Given the description of an element on the screen output the (x, y) to click on. 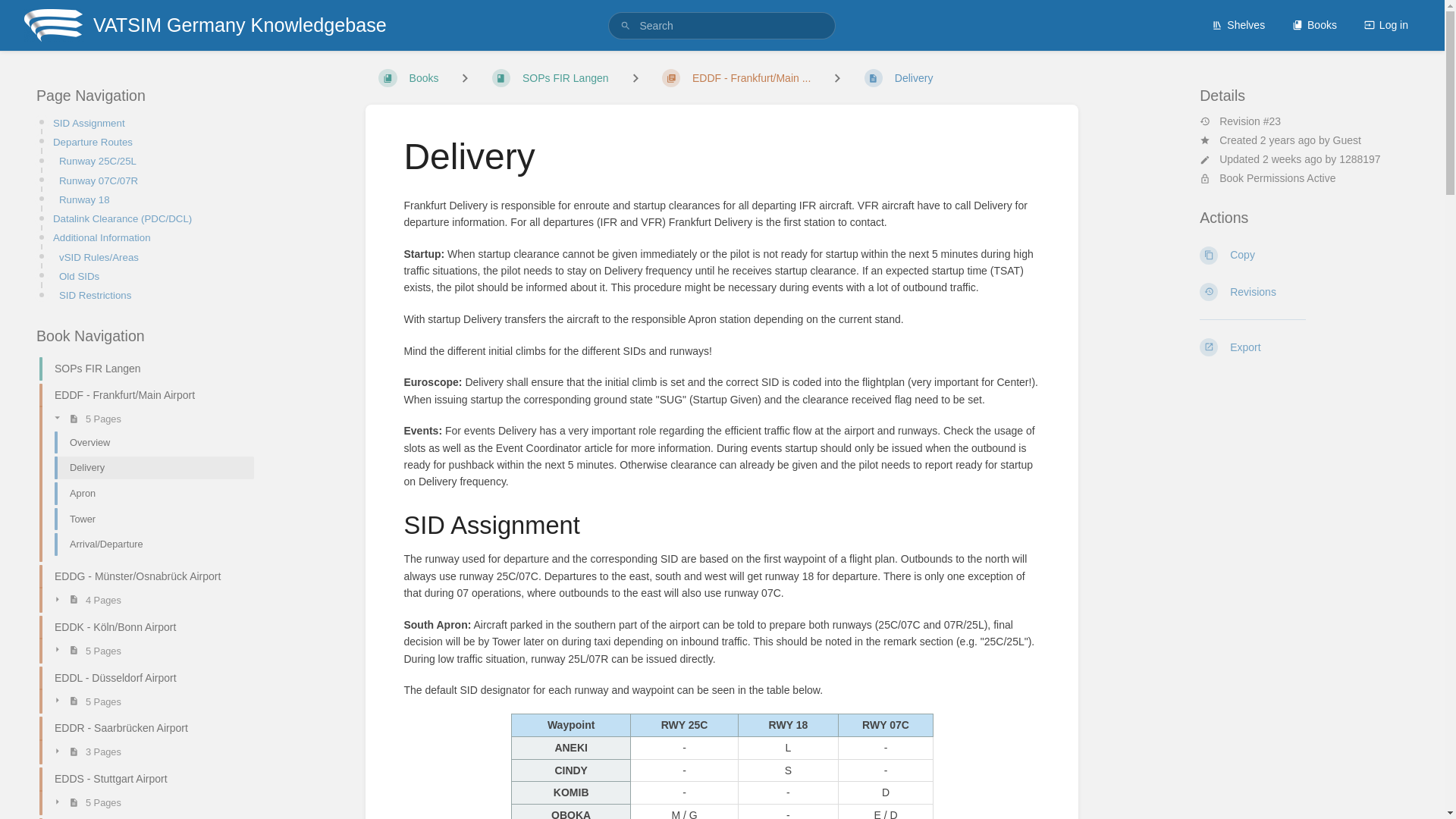
Revisions (1304, 291)
SID Assignment (148, 123)
Copy (1304, 255)
Guest (1347, 140)
Log in (1386, 24)
Old SIDs (151, 276)
VATSIM Germany Knowledgebase (205, 24)
Wed, Jul 17, 2024 9:53 PM (1292, 159)
Tower (147, 519)
Departure Routes (148, 141)
Delivery (147, 467)
Additional Information (148, 237)
SOPs FIR Langen (140, 368)
Books (1314, 24)
5 Pages (147, 418)
